Given the description of an element on the screen output the (x, y) to click on. 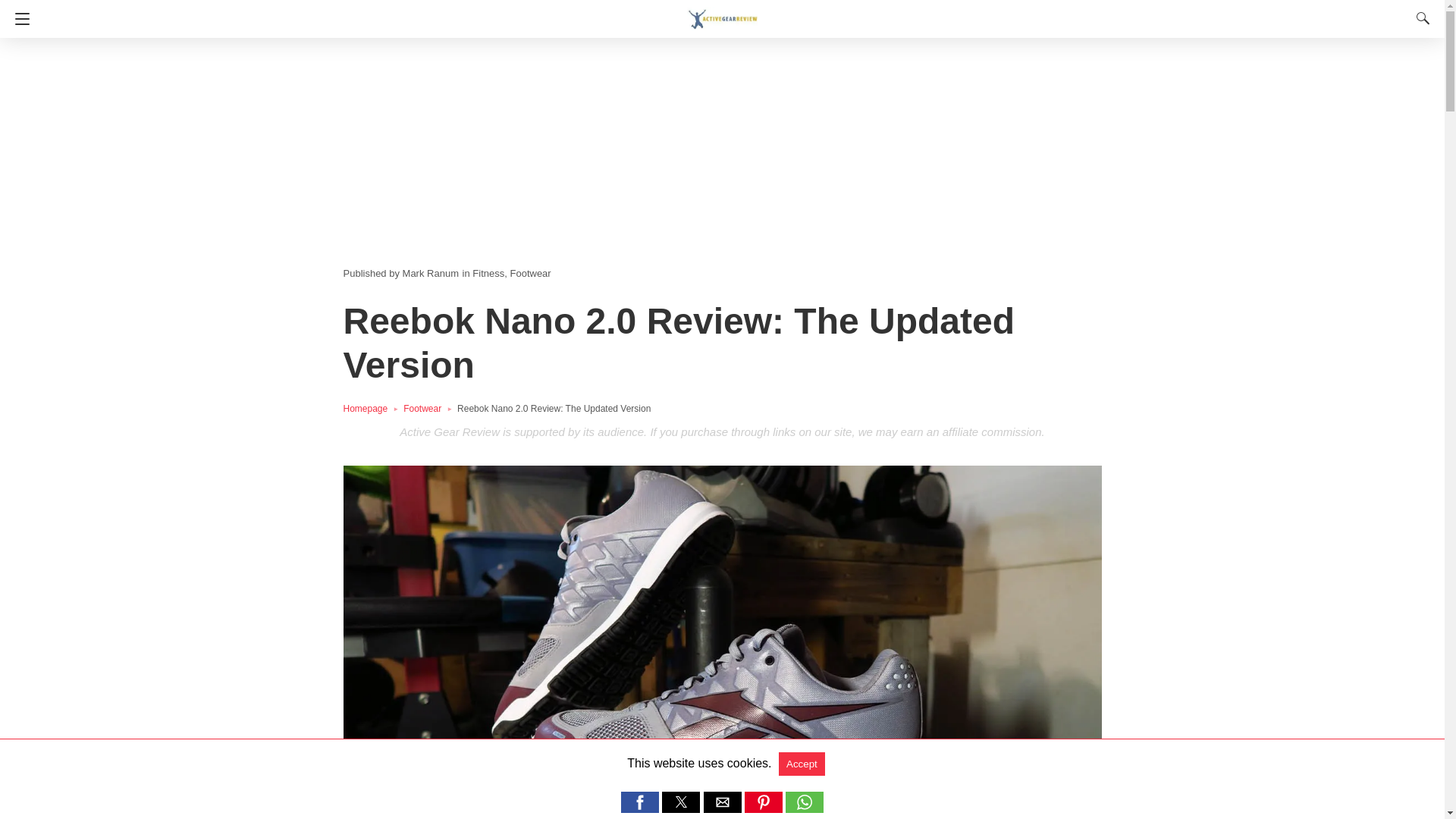
Accept (801, 763)
Footwear (529, 273)
Active Gear Review (722, 12)
Footwear (430, 408)
Homepage (372, 408)
Homepage (372, 408)
Footwear (430, 408)
Fitness (487, 273)
